Given the description of an element on the screen output the (x, y) to click on. 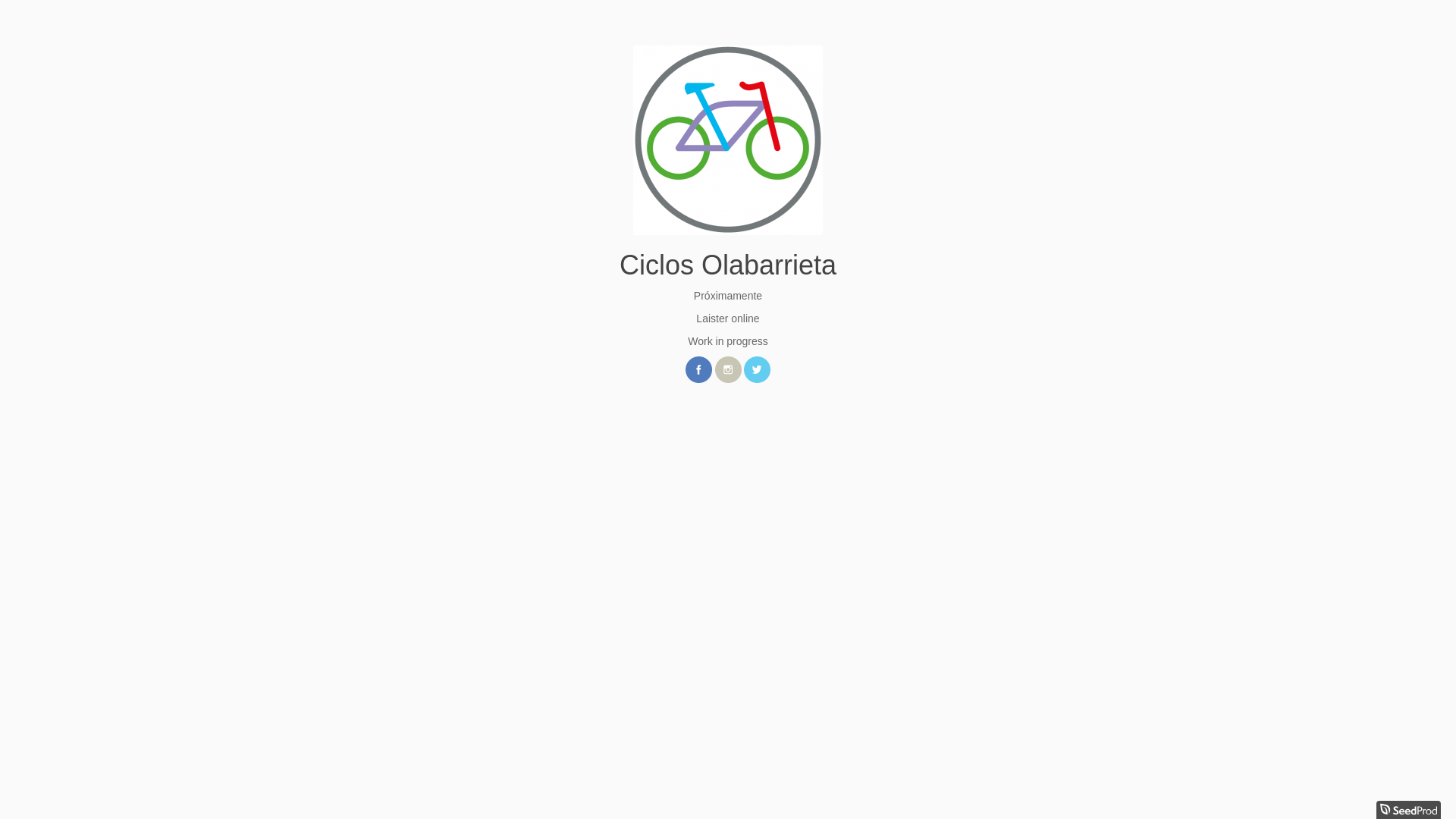
Facebook Element type: hover (698, 369)
Instagram Element type: hover (727, 369)
Twitter Element type: hover (756, 369)
